Given the description of an element on the screen output the (x, y) to click on. 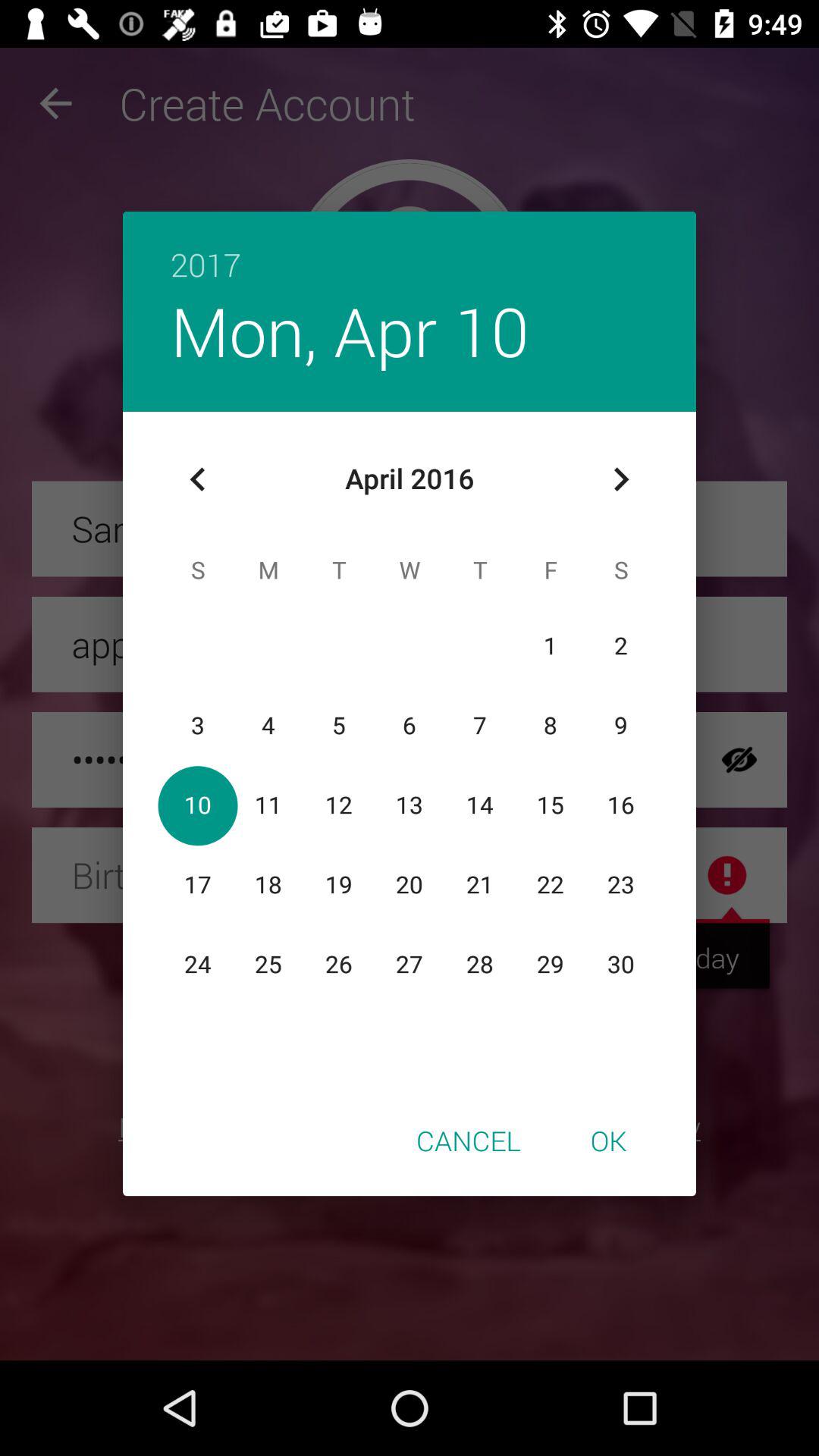
tap icon next to the cancel icon (608, 1140)
